Given the description of an element on the screen output the (x, y) to click on. 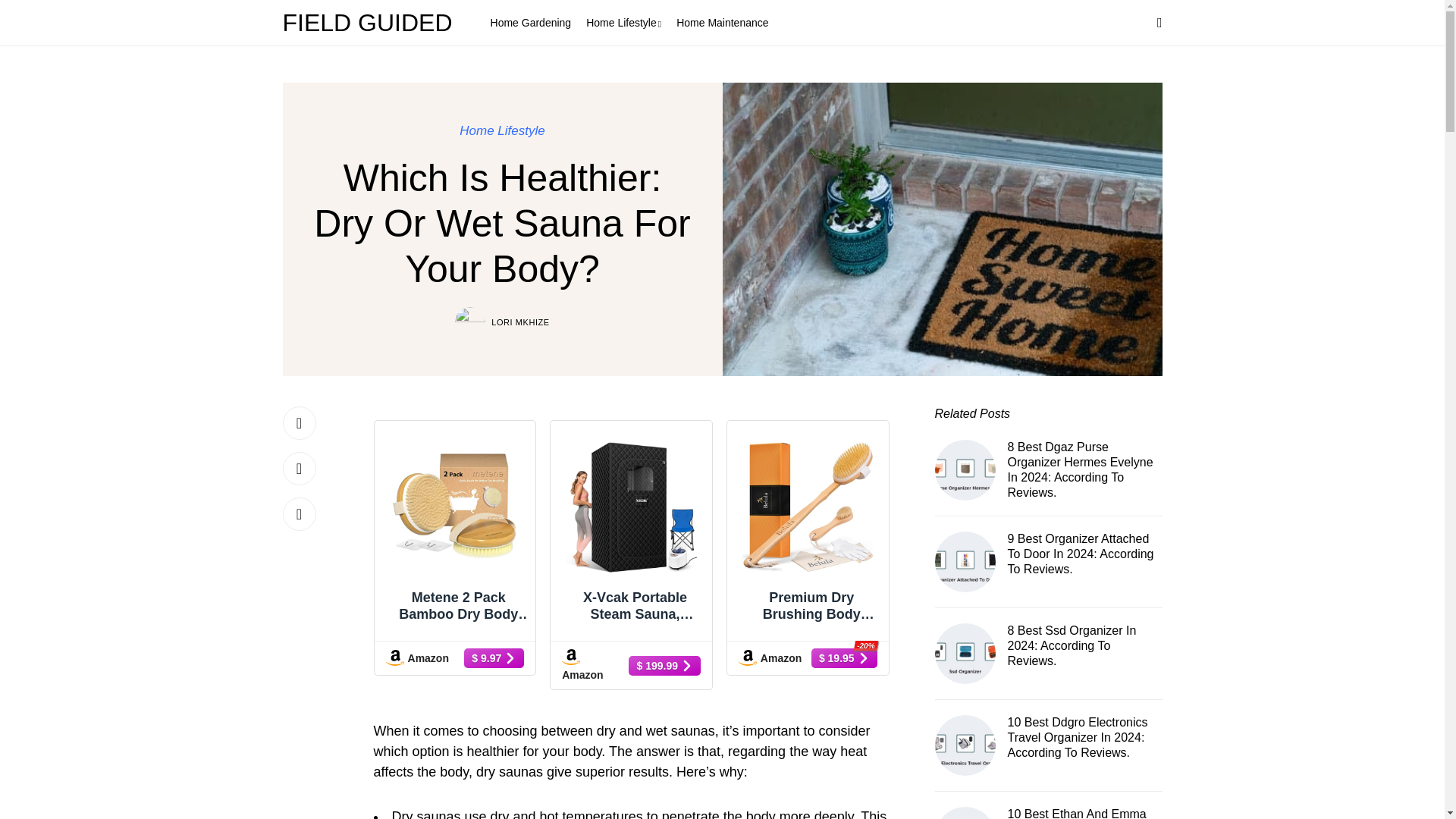
Home Lifestyle (623, 22)
Home Maintenance (722, 22)
FIELD GUIDED (371, 22)
Home Gardening (531, 22)
